Given the description of an element on the screen output the (x, y) to click on. 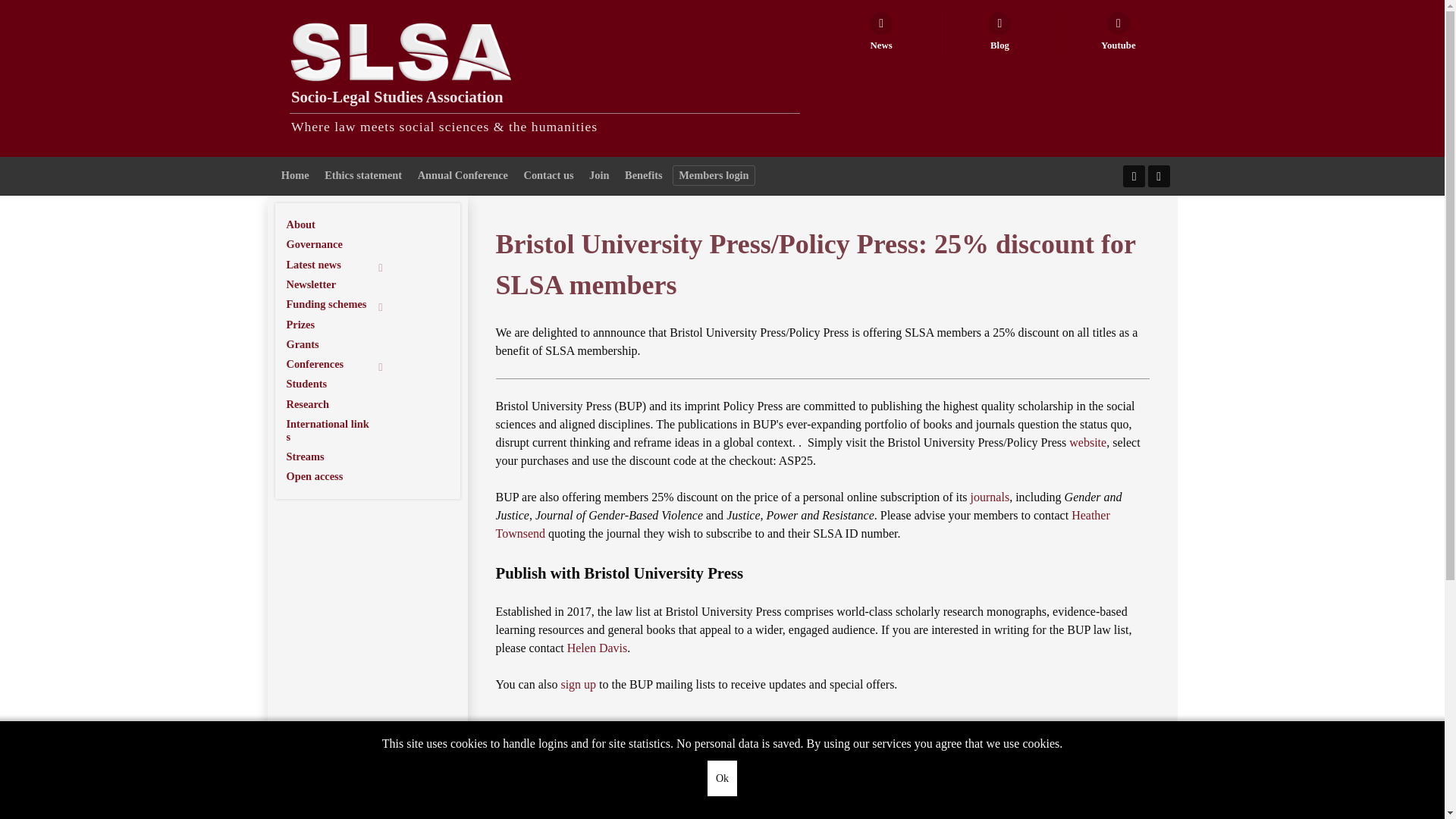
Members login (713, 175)
Heather Townsend (802, 523)
Students (338, 383)
Funding schemes (338, 303)
LOGO - SLSA: Socio-Legal Studies Association (400, 52)
Youtube (1117, 34)
Annual Conference (462, 175)
Research (338, 404)
Join (598, 175)
Newsletter (338, 284)
About (338, 224)
Contact us (548, 175)
Ethics statement (362, 175)
journals (990, 496)
News (881, 34)
